Given the description of an element on the screen output the (x, y) to click on. 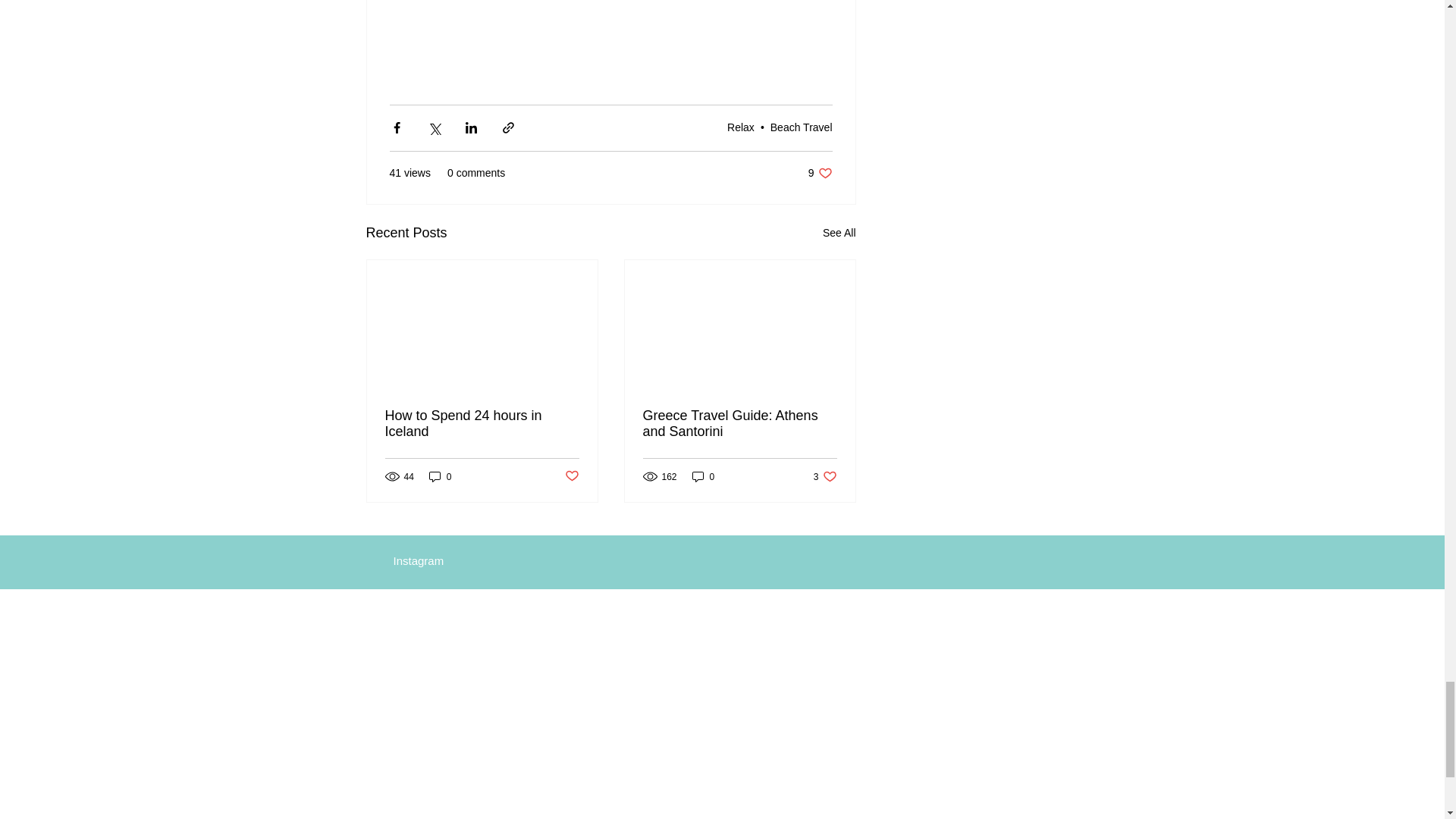
See All (839, 232)
How to Spend 24 hours in Iceland (825, 476)
Beach Travel (820, 173)
0 (482, 423)
Greece Travel Guide: Athens and Santorini (801, 127)
Post not marked as liked (703, 476)
Relax (740, 423)
0 (571, 476)
